Given the description of an element on the screen output the (x, y) to click on. 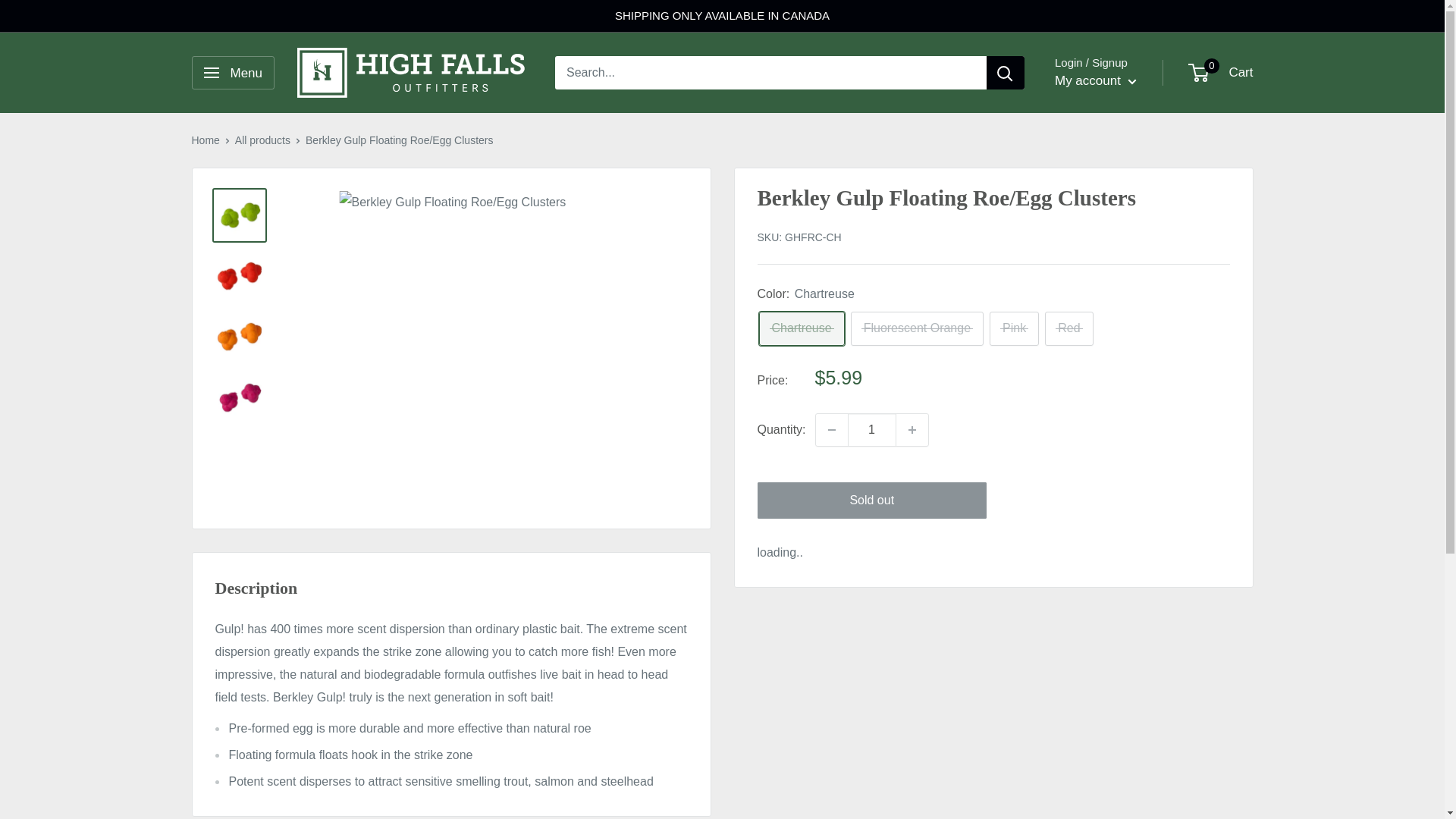
Fluorescent Orange (917, 328)
Pink (1014, 328)
Increase quantity by 1 (912, 429)
Chartreuse (801, 328)
Decrease quantity by 1 (831, 429)
Red (1069, 328)
1 (871, 429)
